Given the description of an element on the screen output the (x, y) to click on. 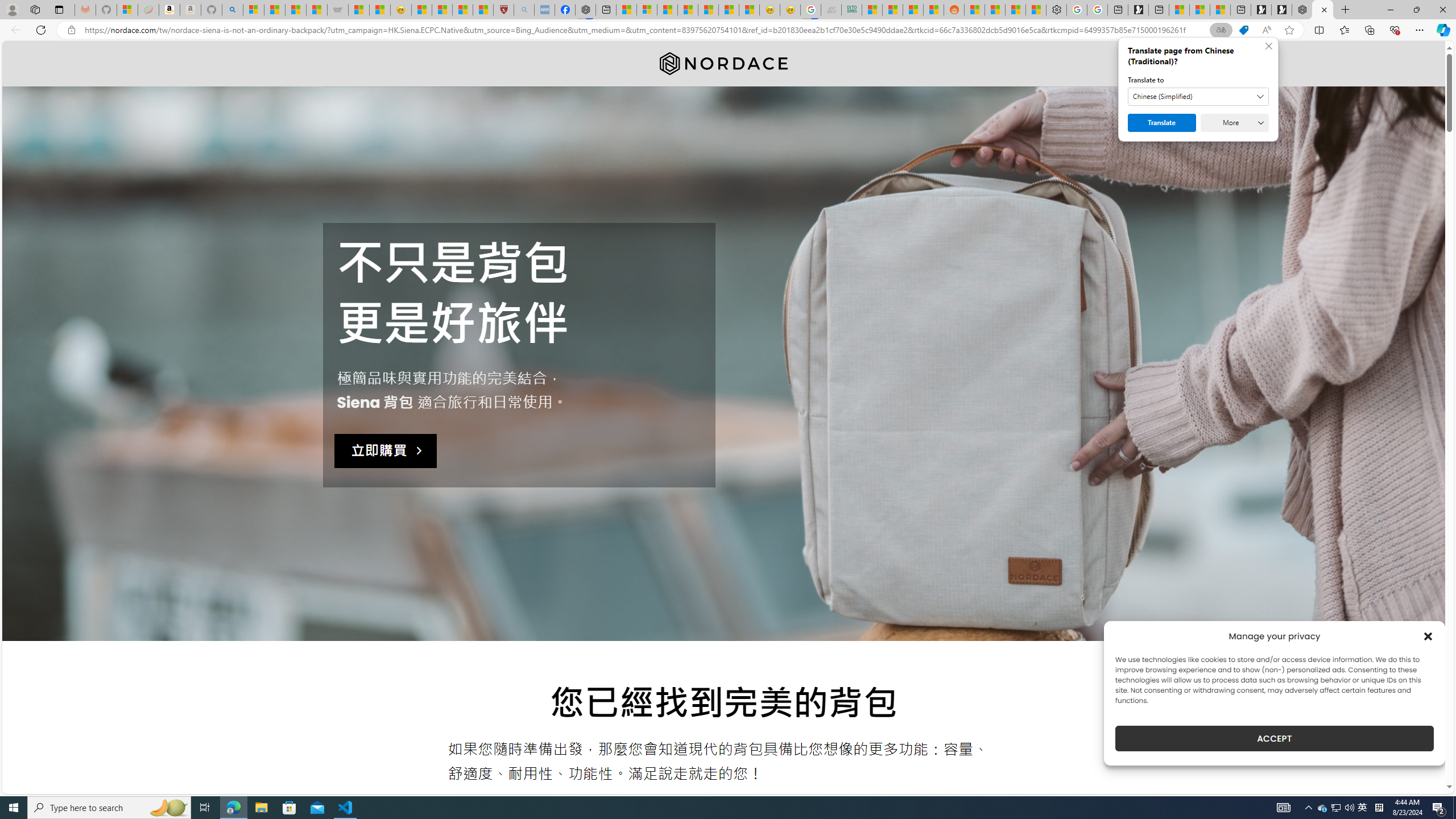
This site has coupons! Shopping in Microsoft Edge (1243, 29)
More (1234, 122)
Translate (1161, 122)
